Given the description of an element on the screen output the (x, y) to click on. 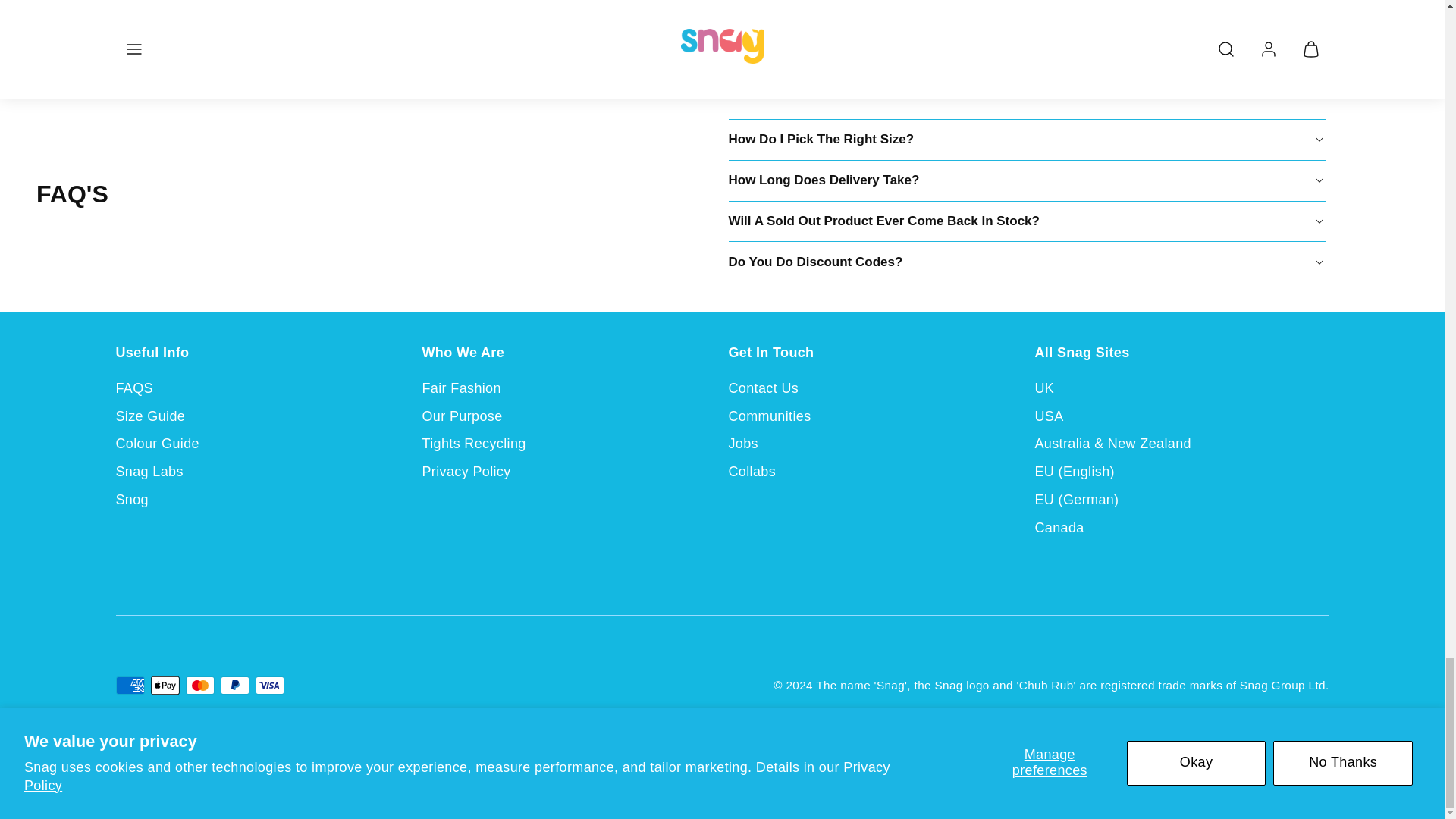
Mastercard (199, 685)
Apple Pay (164, 685)
American Express (129, 685)
